Given the description of an element on the screen output the (x, y) to click on. 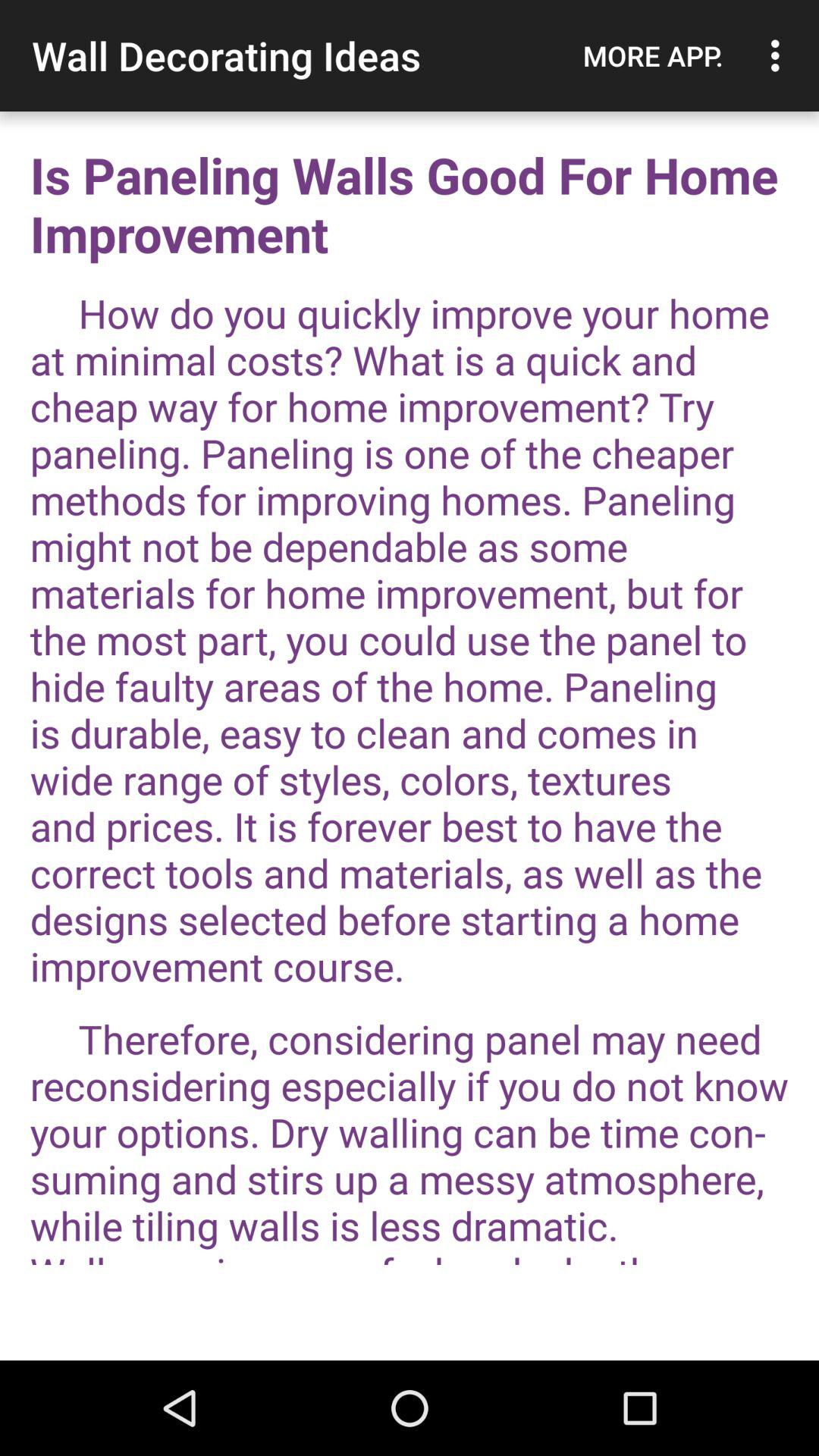
press app above is paneling walls app (779, 55)
